Given the description of an element on the screen output the (x, y) to click on. 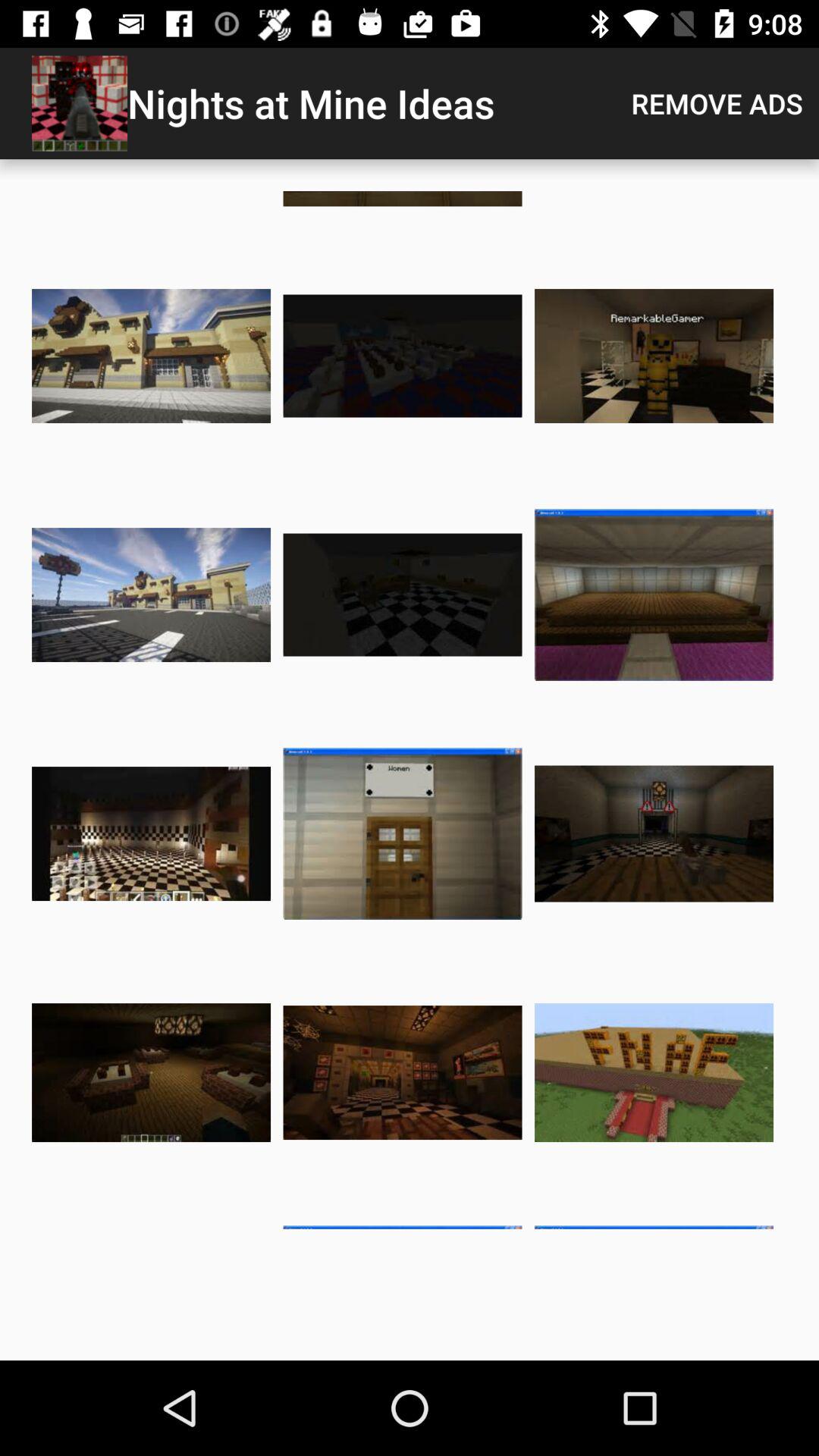
jump until the remove ads (717, 103)
